Given the description of an element on the screen output the (x, y) to click on. 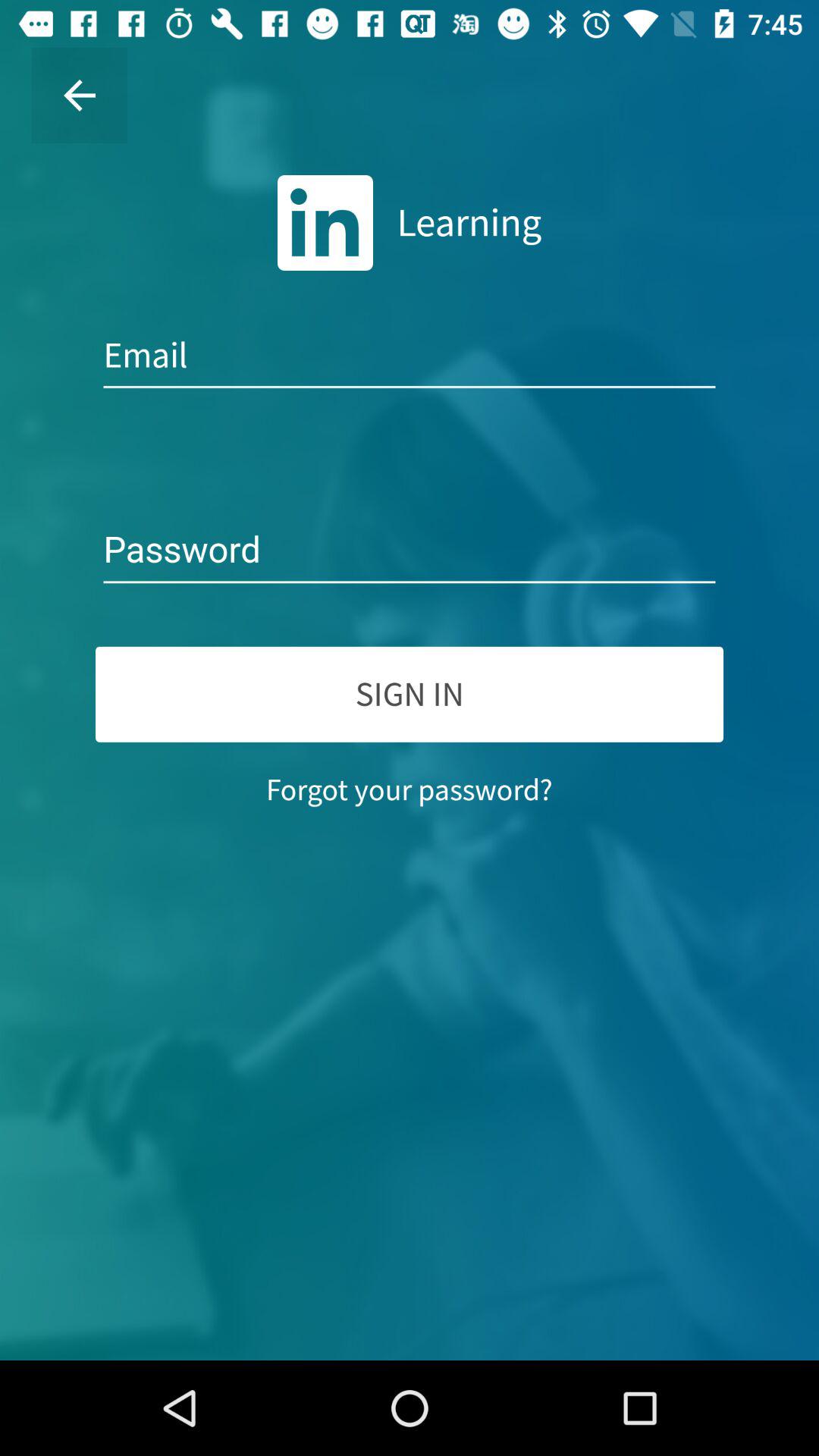
tap the item at the top left corner (79, 95)
